Given the description of an element on the screen output the (x, y) to click on. 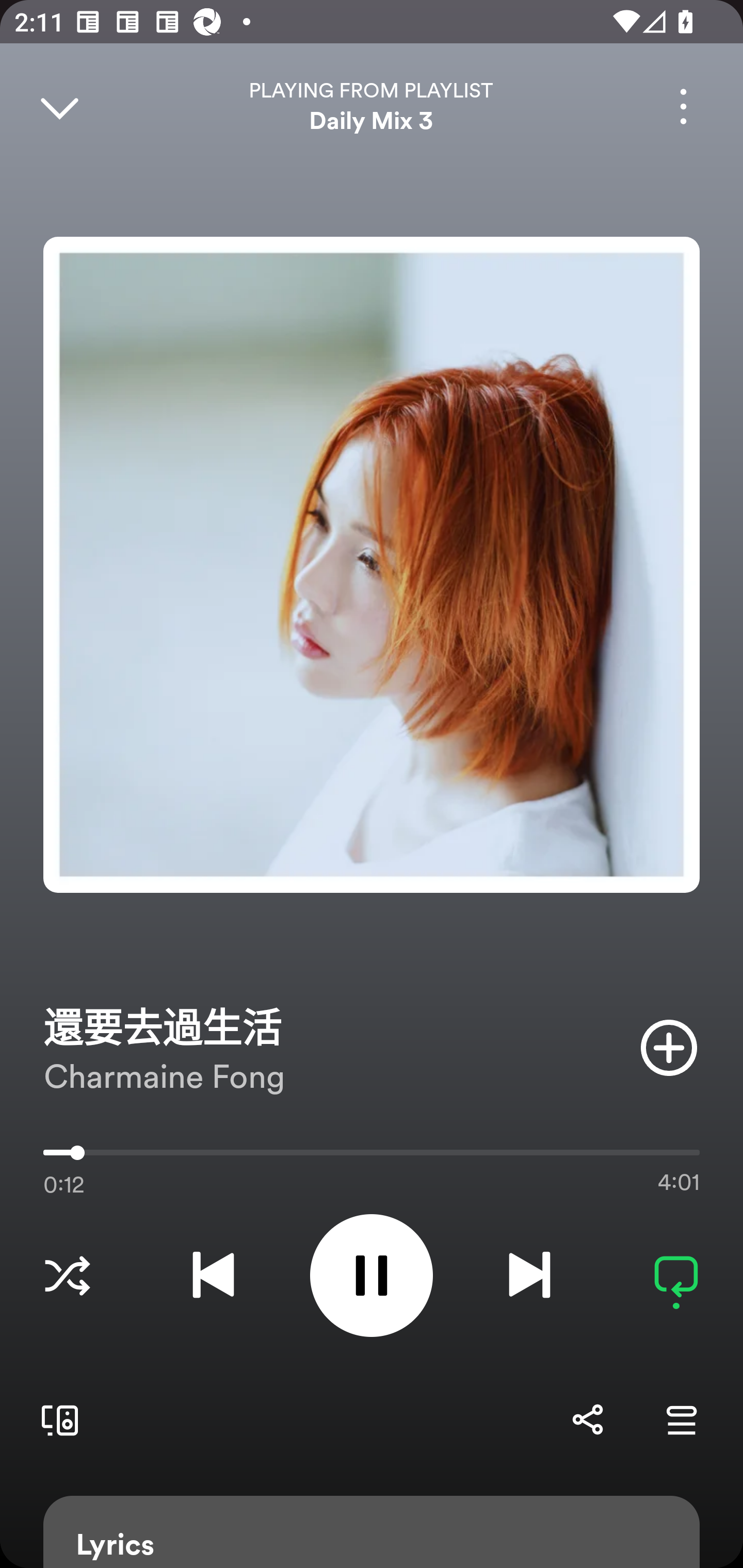
Close (59, 106)
More options for song 還要去過生活 (683, 106)
PLAYING FROM PLAYLIST Daily Mix 3 (371, 106)
Add item (669, 1046)
0:12 4:01 12431.0 Use volume keys to adjust (371, 1157)
Pause (371, 1275)
Previous (212, 1275)
Next (529, 1275)
Choose a Listening Mode (66, 1275)
Repeat (676, 1275)
Share (587, 1419)
Go to Queue (681, 1419)
Connect to a device. Opens the devices menu (55, 1419)
Lyrics (371, 1531)
